Given the description of an element on the screen output the (x, y) to click on. 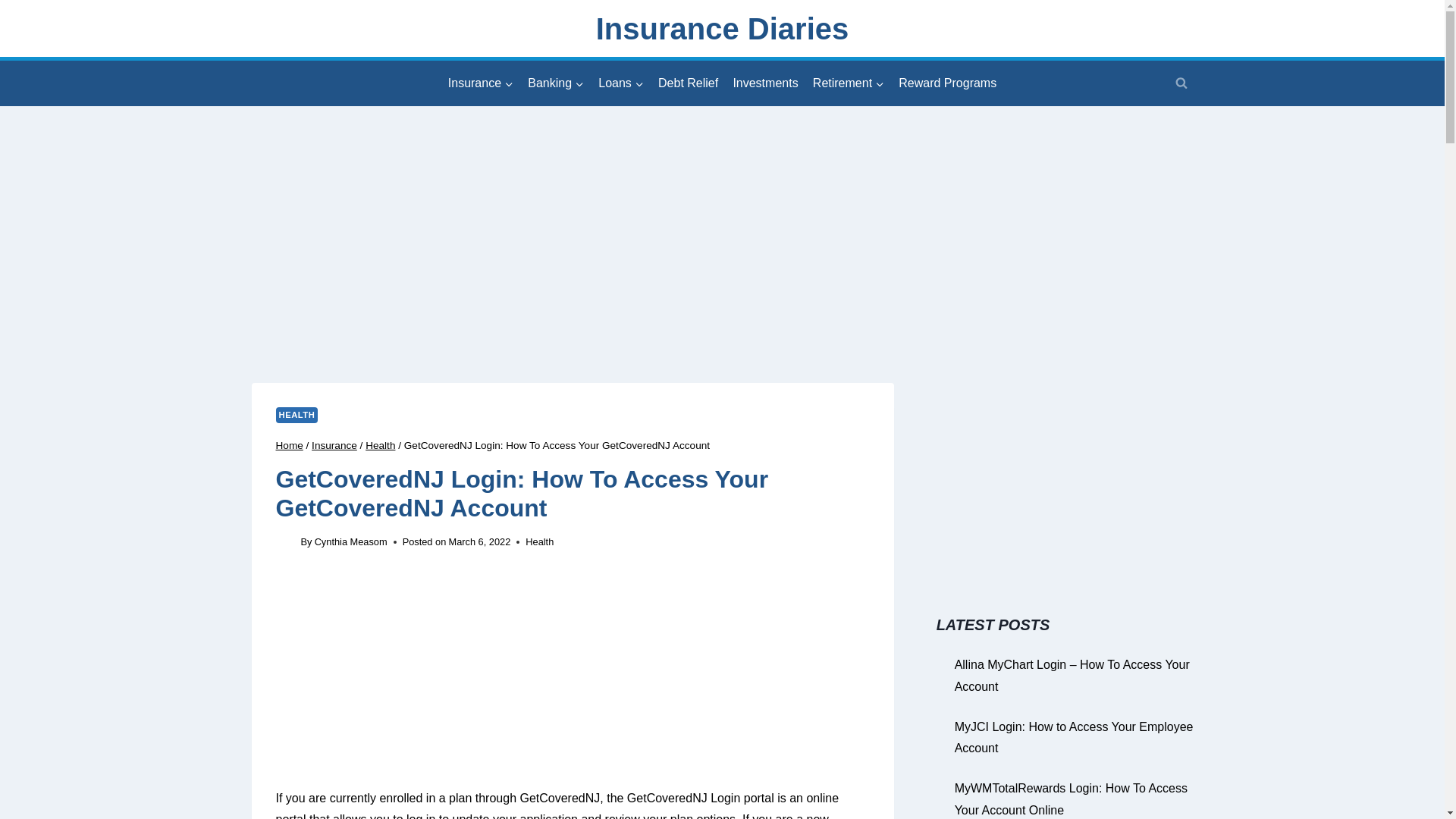
Insurance Diaries (721, 28)
Banking (556, 83)
Debt Relief (687, 83)
Insurance (480, 83)
Cynthia Measom (350, 541)
Advertisement (572, 681)
Home (289, 445)
Retirement (848, 83)
HEALTH (297, 415)
Reward Programs (947, 83)
